Given the description of an element on the screen output the (x, y) to click on. 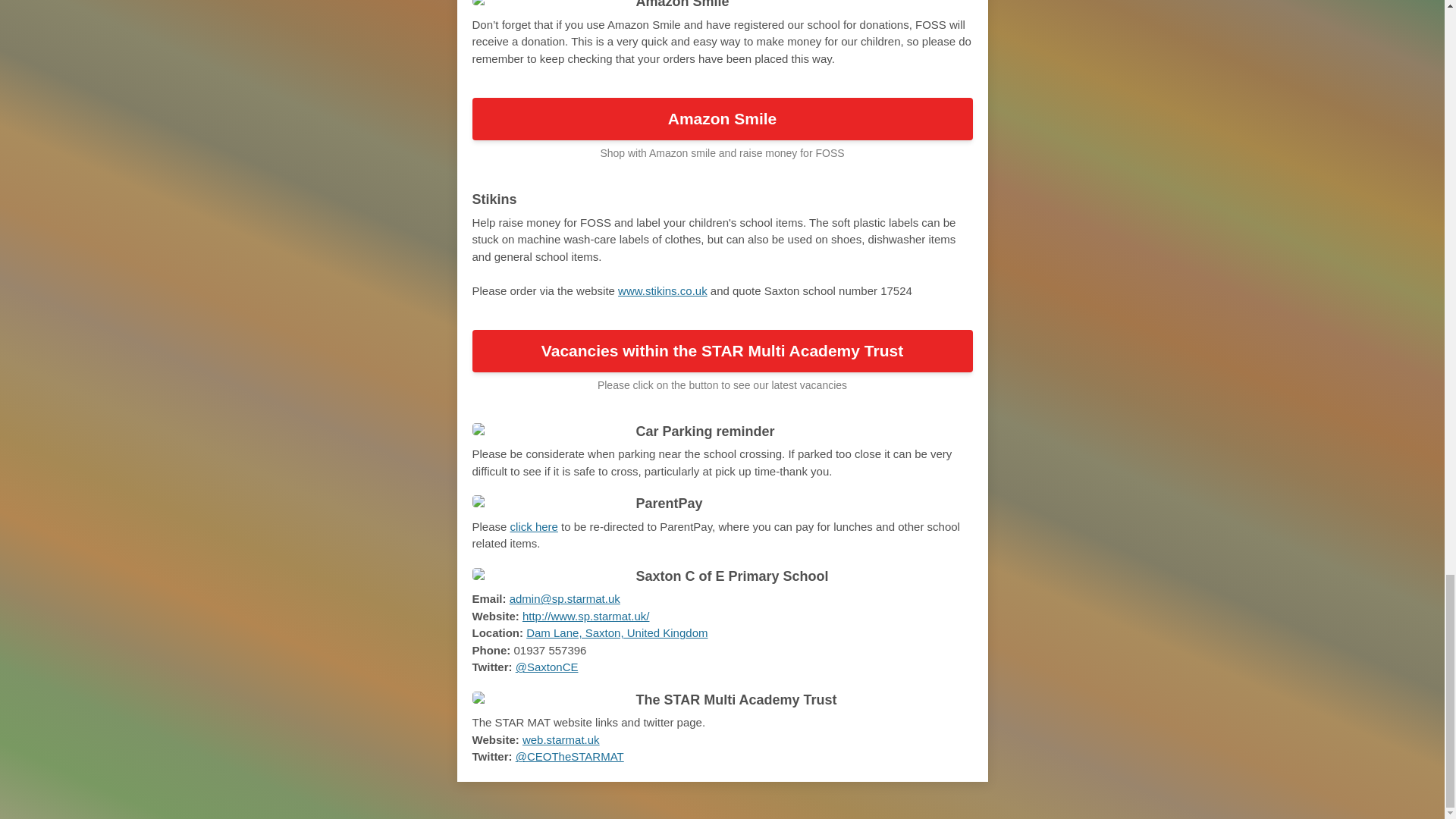
Amazon Smile (721, 118)
click here (534, 526)
Vacancies within the STAR Multi Academy Trust (721, 351)
www.stikins.co.uk (662, 290)
